Given the description of an element on the screen output the (x, y) to click on. 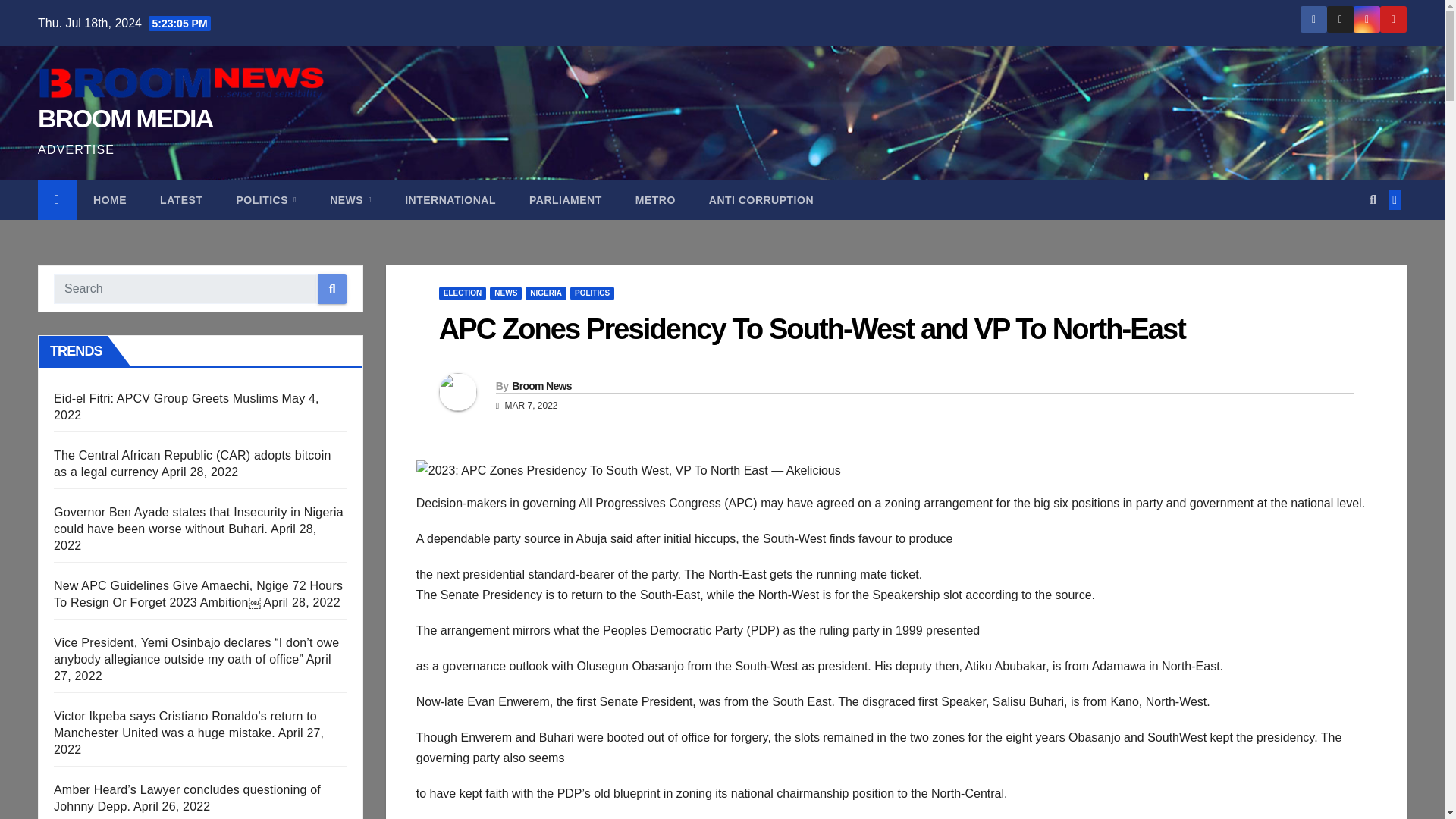
BROOM MEDIA (124, 118)
METRO (655, 200)
News (350, 200)
Home (109, 200)
POLITICS (266, 200)
LATEST (180, 200)
INTERNATIONAL (450, 200)
POLITICS (266, 200)
Latest (180, 200)
PARLIAMENT (565, 200)
NEWS (350, 200)
Eid-el Fitri: APCV Group Greets Muslims (165, 398)
ANTI CORRUPTION (761, 200)
HOME (109, 200)
